Given the description of an element on the screen output the (x, y) to click on. 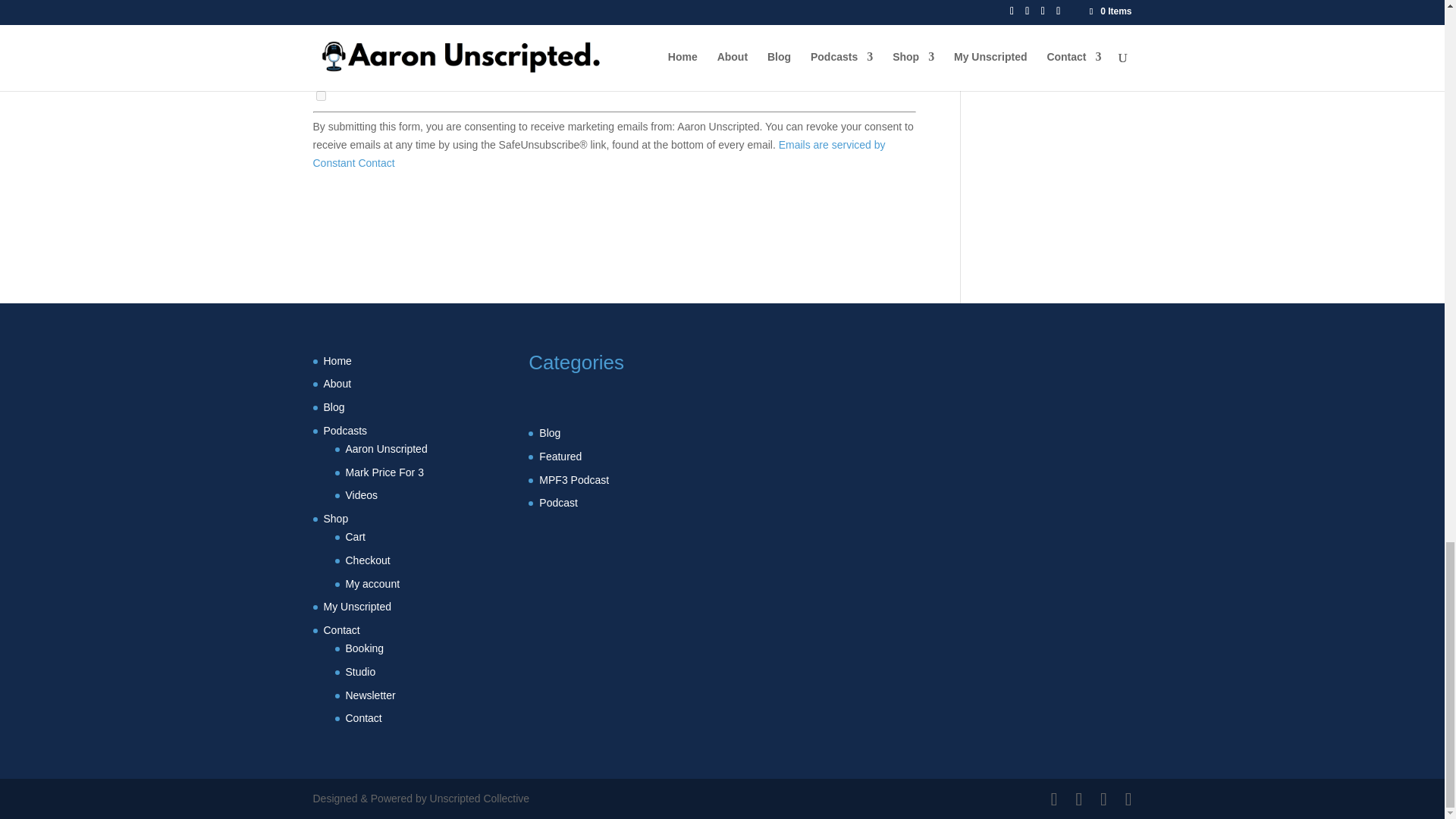
Submit Comment (840, 19)
71b214cc-3ec6-11ef-820f-fa163eaee913 (319, 95)
